Given the description of an element on the screen output the (x, y) to click on. 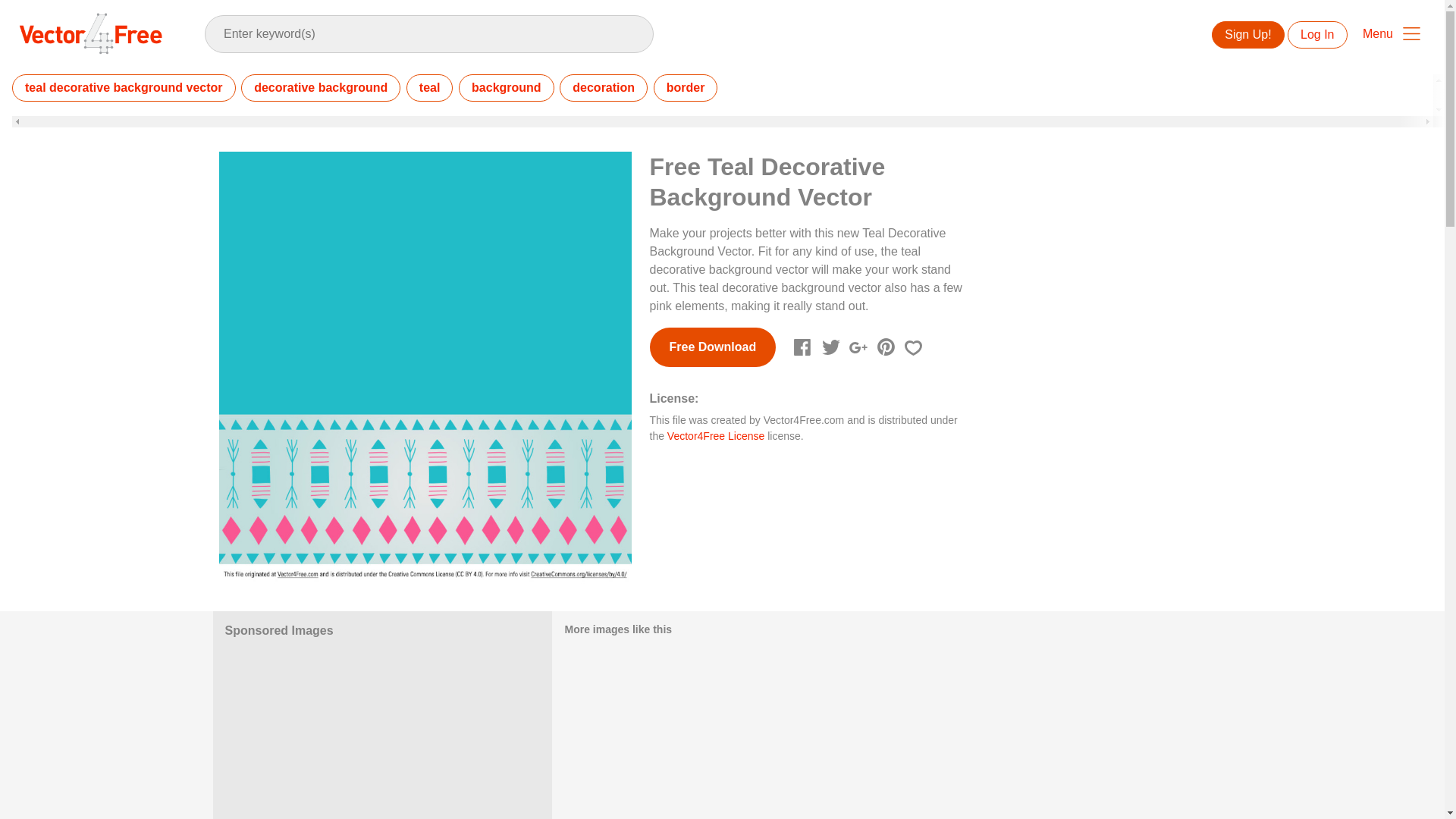
border (685, 87)
background (506, 87)
border (685, 87)
Log In (1316, 34)
Free Download (712, 346)
background (506, 87)
Menu (1391, 33)
Vector4Free License (715, 435)
decorative background (320, 87)
Decoration (603, 87)
